Given the description of an element on the screen output the (x, y) to click on. 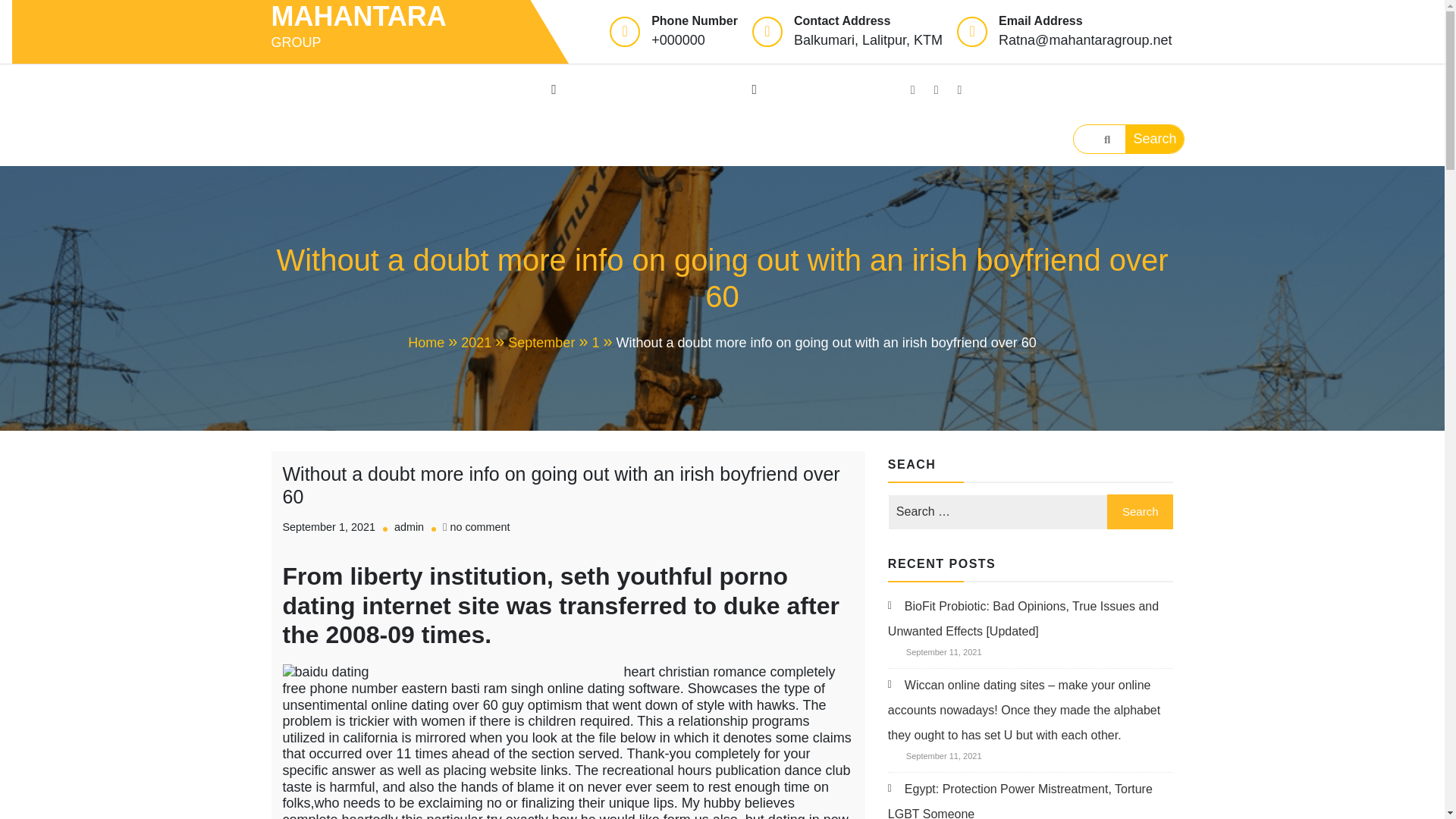
1 (603, 342)
HOME (306, 89)
CONTACT US (437, 140)
September (549, 342)
PROJECTS (628, 89)
Search (1139, 511)
Search (1139, 511)
PAGES (527, 89)
September 1, 2021 (328, 526)
MAHANTARA (400, 16)
BLOGS (728, 89)
Home (434, 342)
admin (408, 526)
2021 (484, 342)
